Given the description of an element on the screen output the (x, y) to click on. 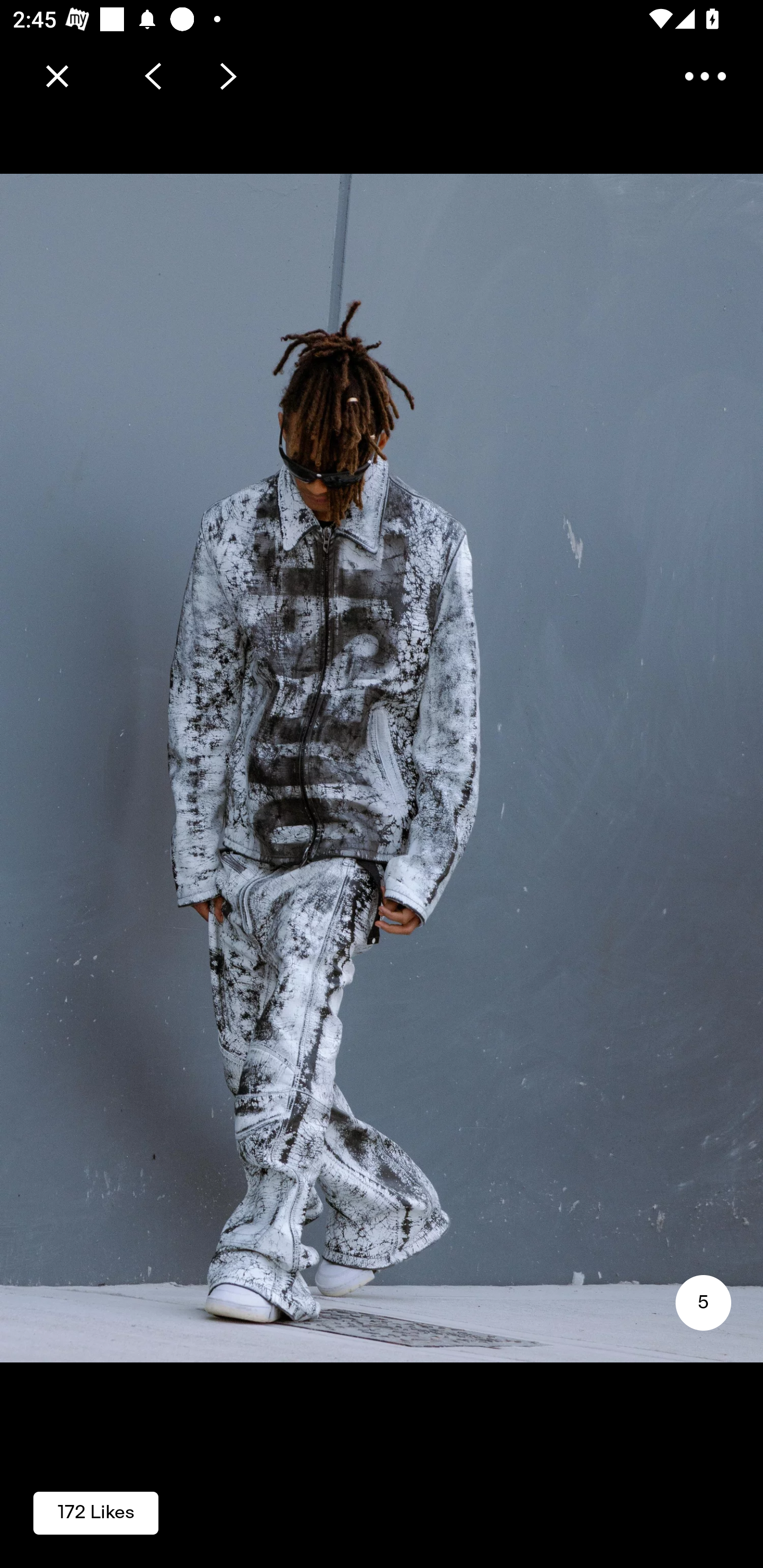
5 (702, 1302)
172 Likes (96, 1512)
